Given the description of an element on the screen output the (x, y) to click on. 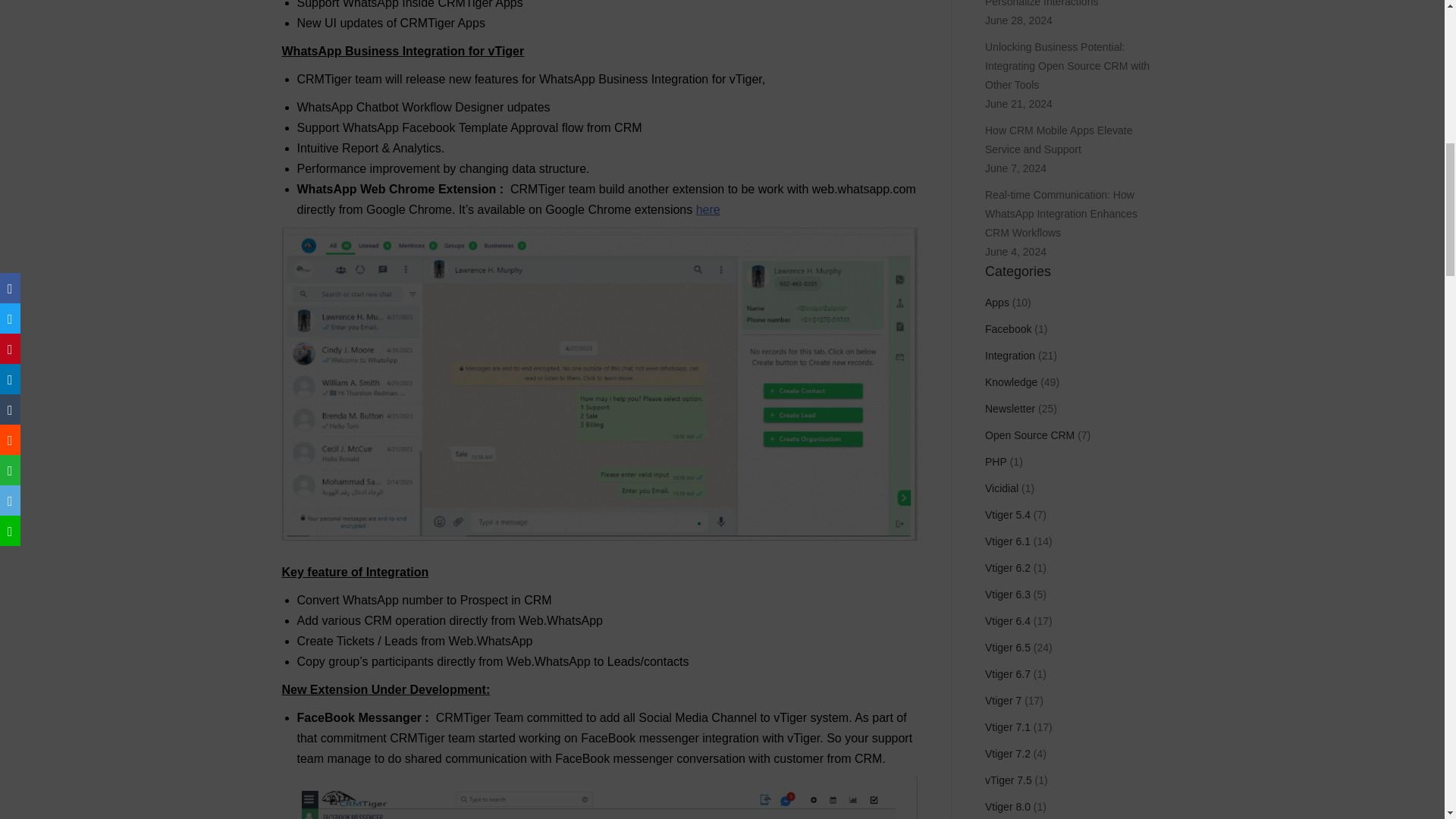
here (707, 209)
